Given the description of an element on the screen output the (x, y) to click on. 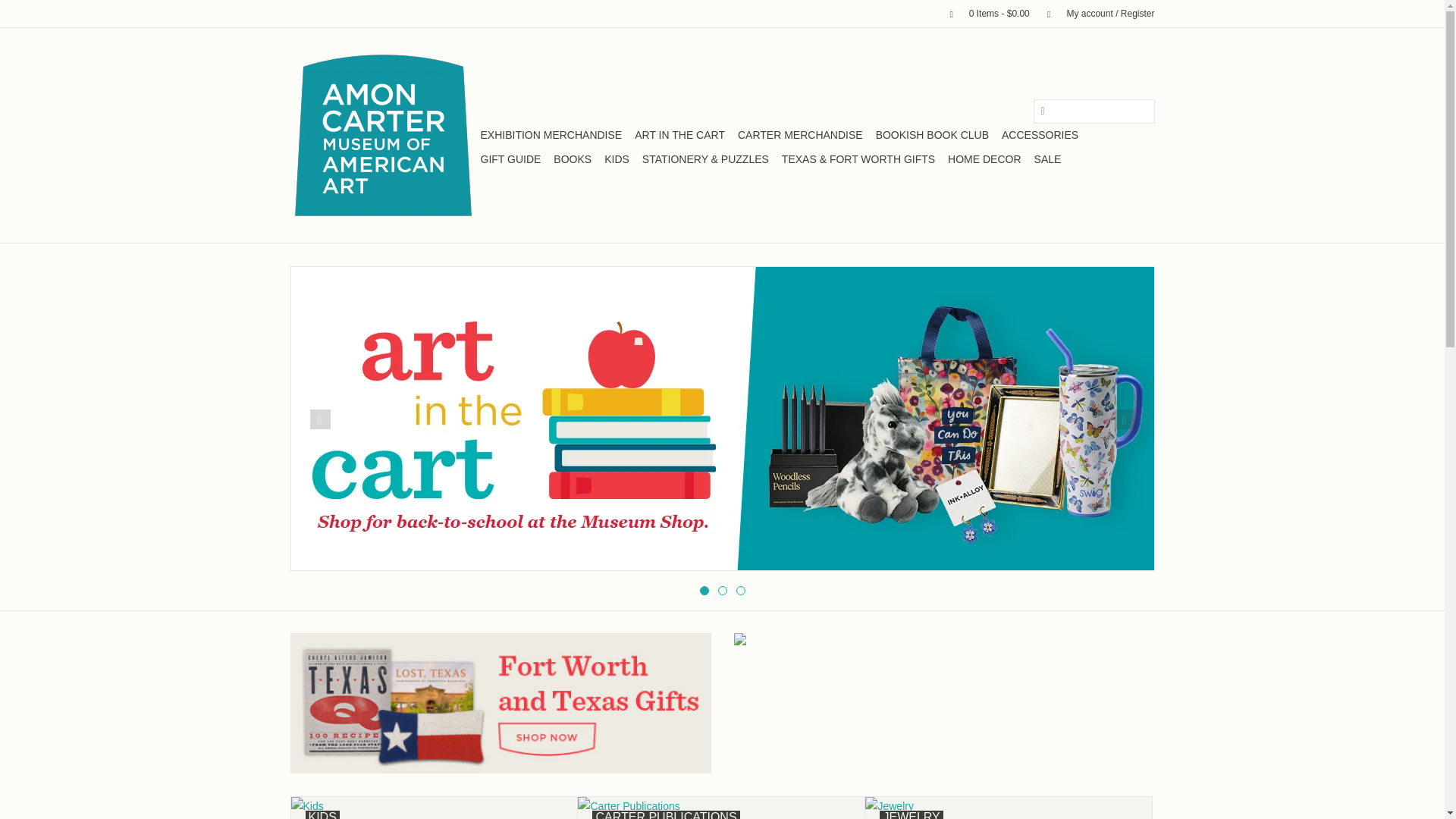
Art in the Cart (679, 134)
Exhibition Merchandise (551, 134)
EXHIBITION MERCHANDISE (551, 134)
GIFT GUIDE (511, 159)
BOOKS (571, 159)
Bookish Book Club (931, 134)
ACCESSORIES (1040, 134)
Cart (983, 13)
Amon Carter Museum of American Art (382, 135)
Carter Merchandise (800, 134)
